Given the description of an element on the screen output the (x, y) to click on. 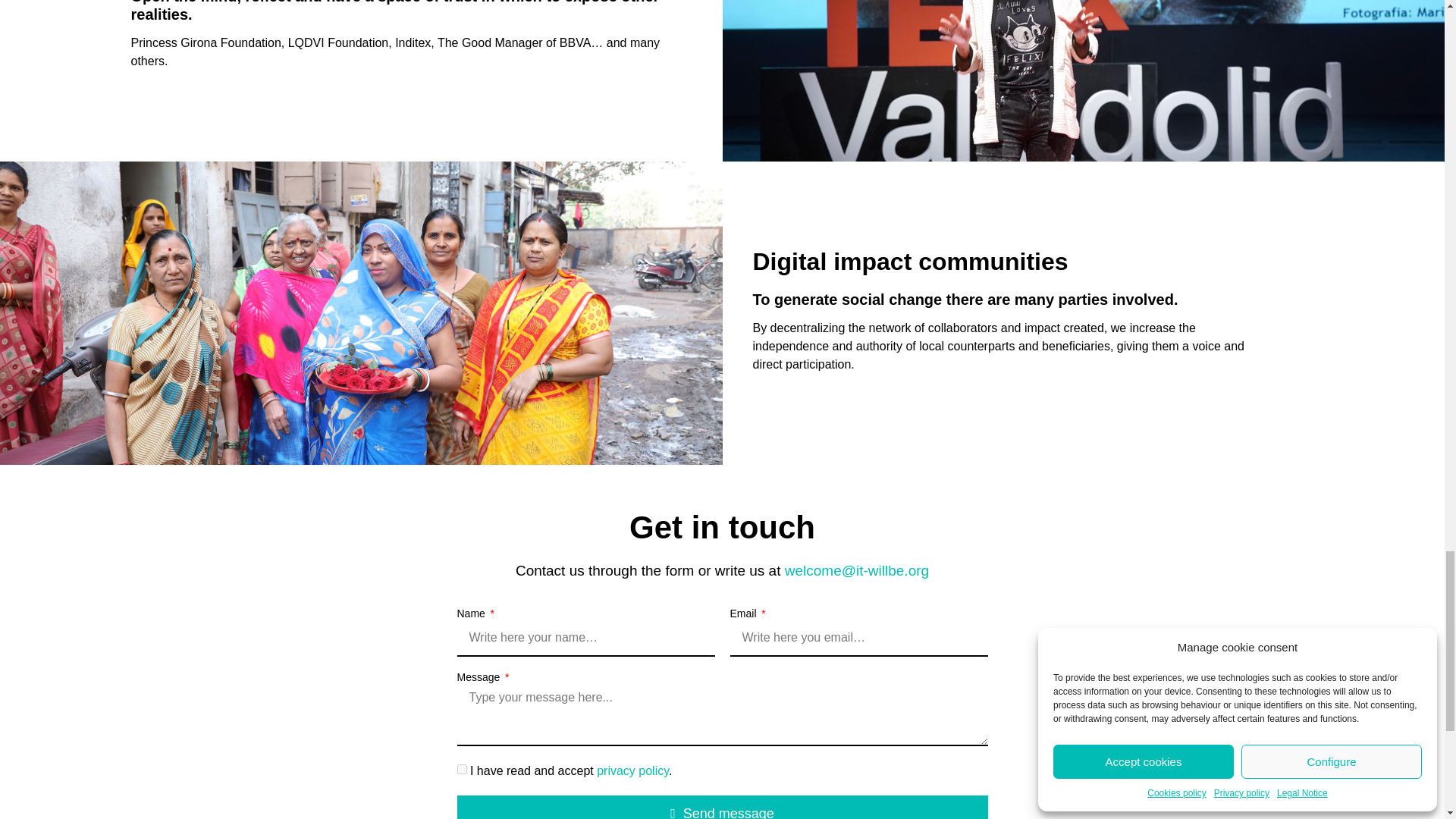
on (461, 768)
